Given the description of an element on the screen output the (x, y) to click on. 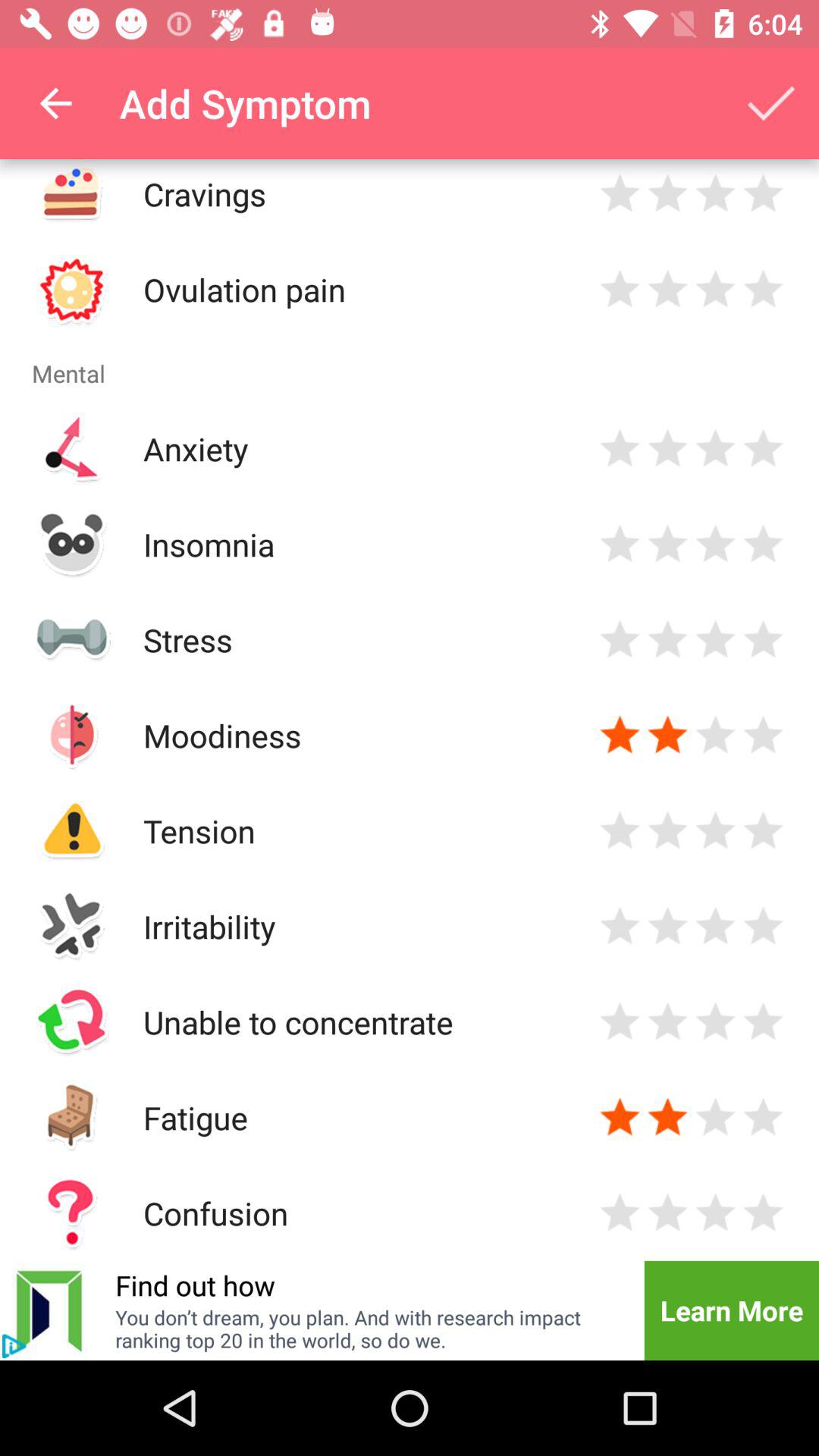
evaluation (763, 1117)
